Given the description of an element on the screen output the (x, y) to click on. 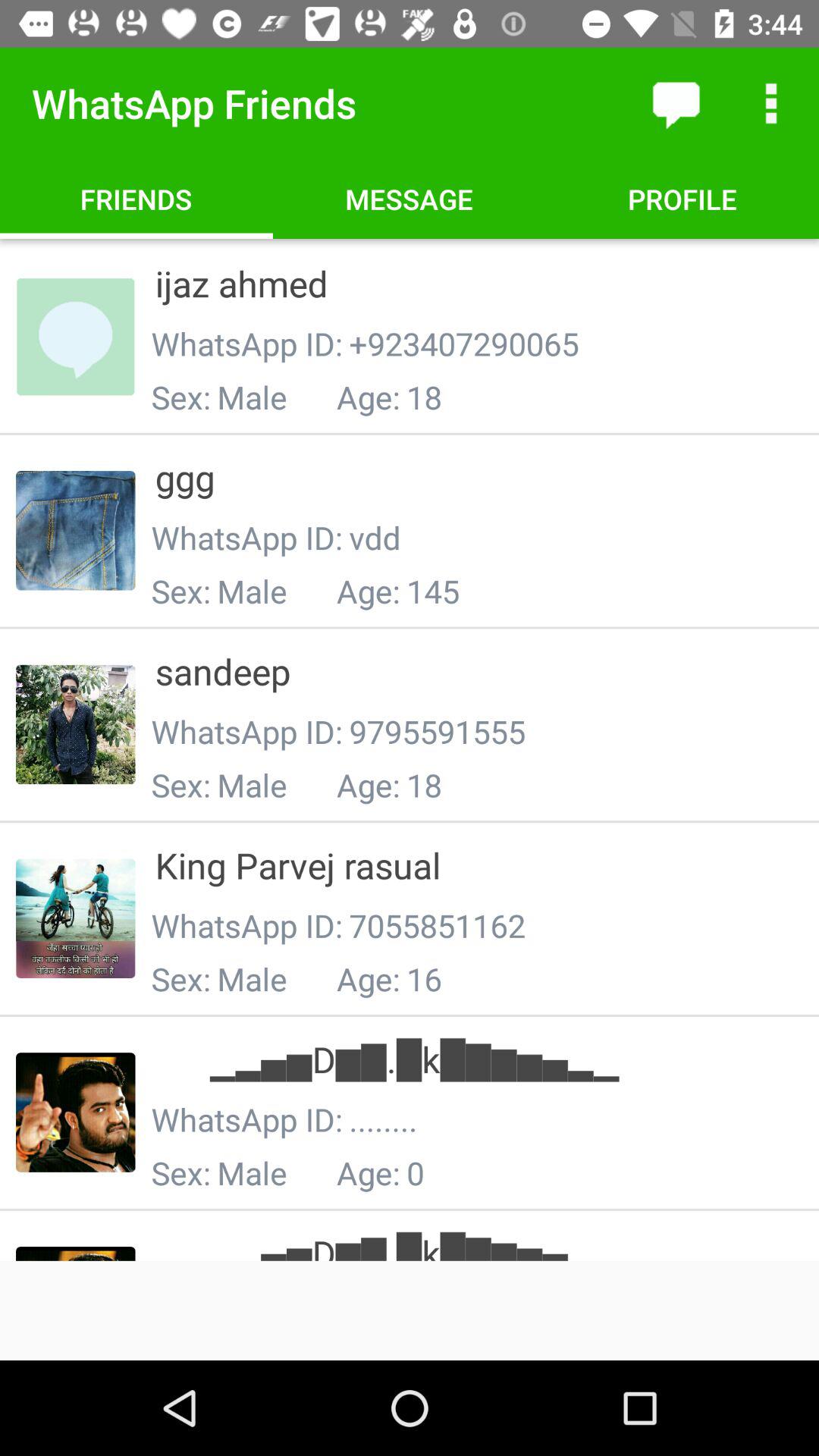
tap the icon above profile icon (675, 103)
